Given the description of an element on the screen output the (x, y) to click on. 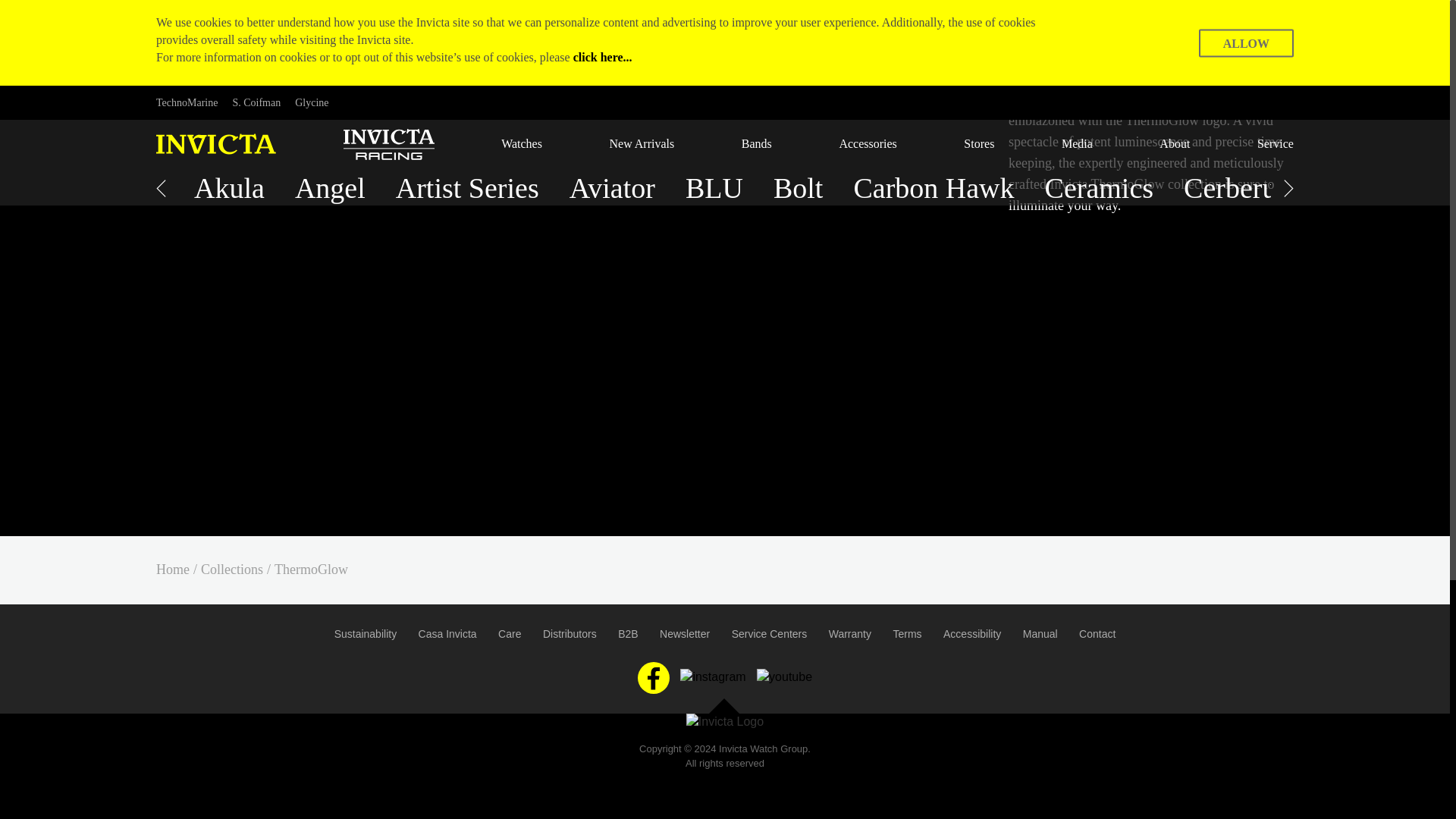
WEBSITE ACCESSIBILITY (972, 633)
Sign up for the Newsletter (684, 633)
Contact Invictawatch (1096, 633)
